Given the description of an element on the screen output the (x, y) to click on. 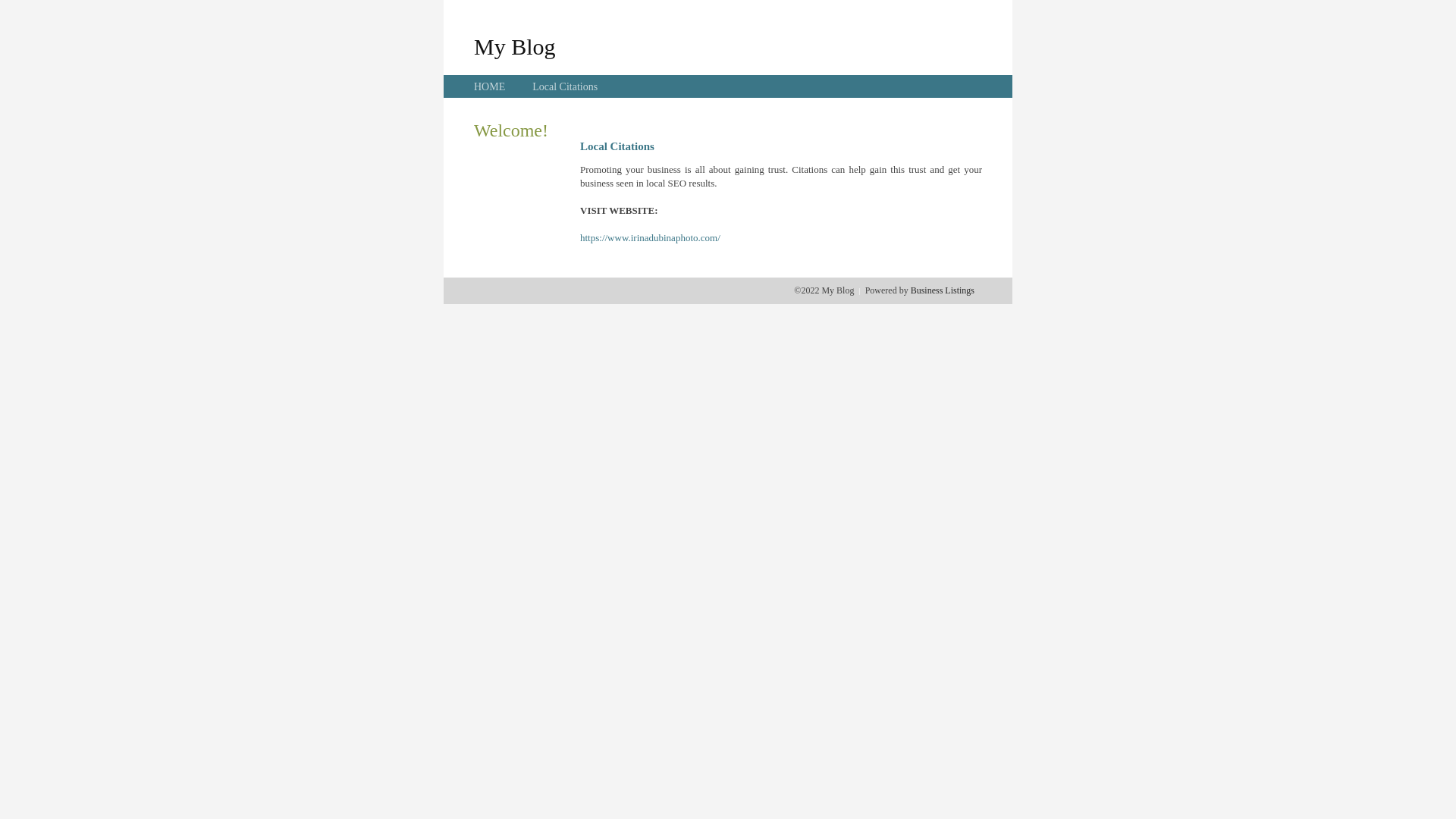
HOME Element type: text (489, 86)
Business Listings Element type: text (942, 290)
https://www.irinadubinaphoto.com/ Element type: text (650, 237)
My Blog Element type: text (514, 46)
Local Citations Element type: text (564, 86)
